Given the description of an element on the screen output the (x, y) to click on. 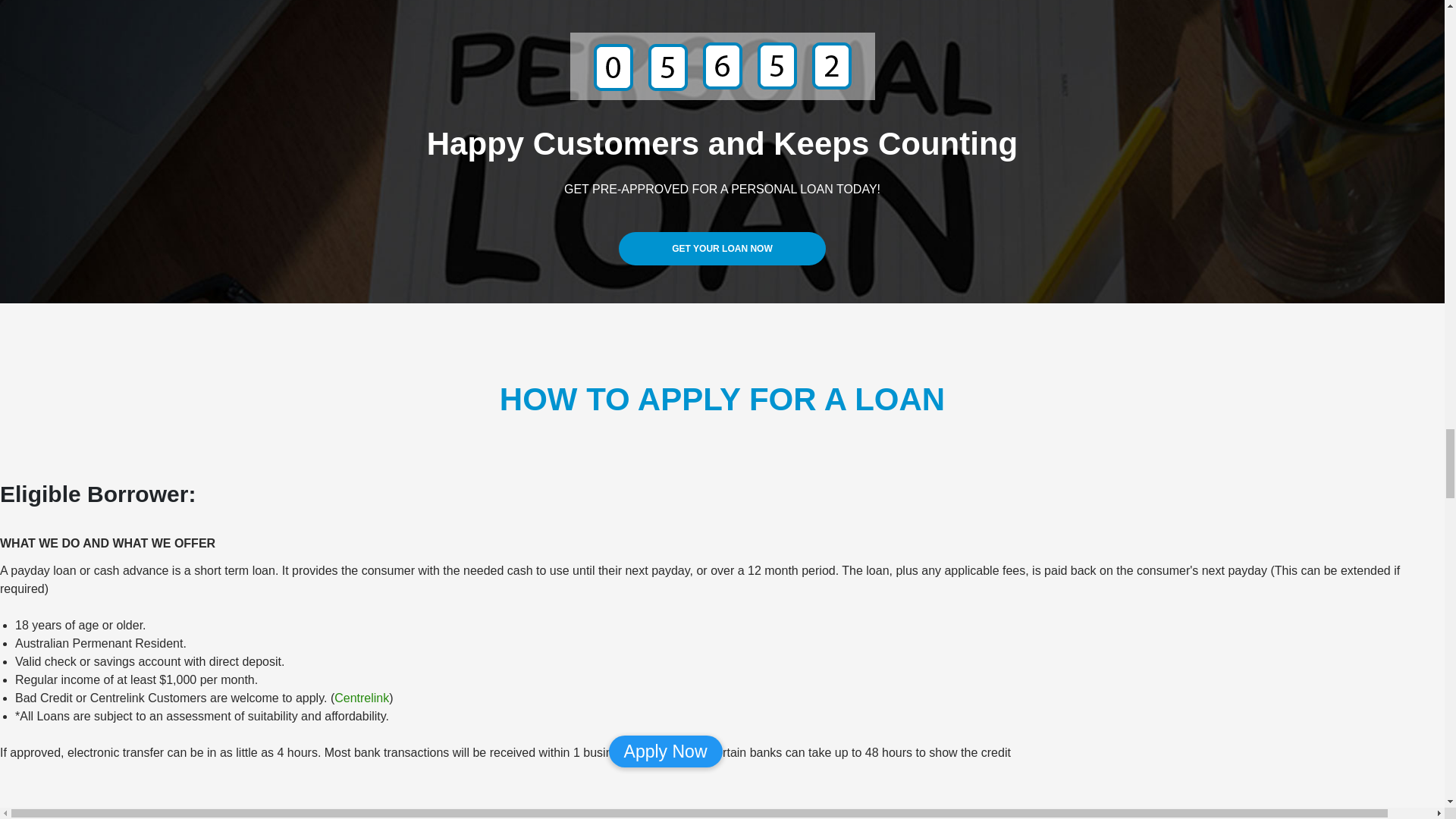
Centrelink (361, 697)
GET YOUR LOAN NOW (721, 248)
